Given the description of an element on the screen output the (x, y) to click on. 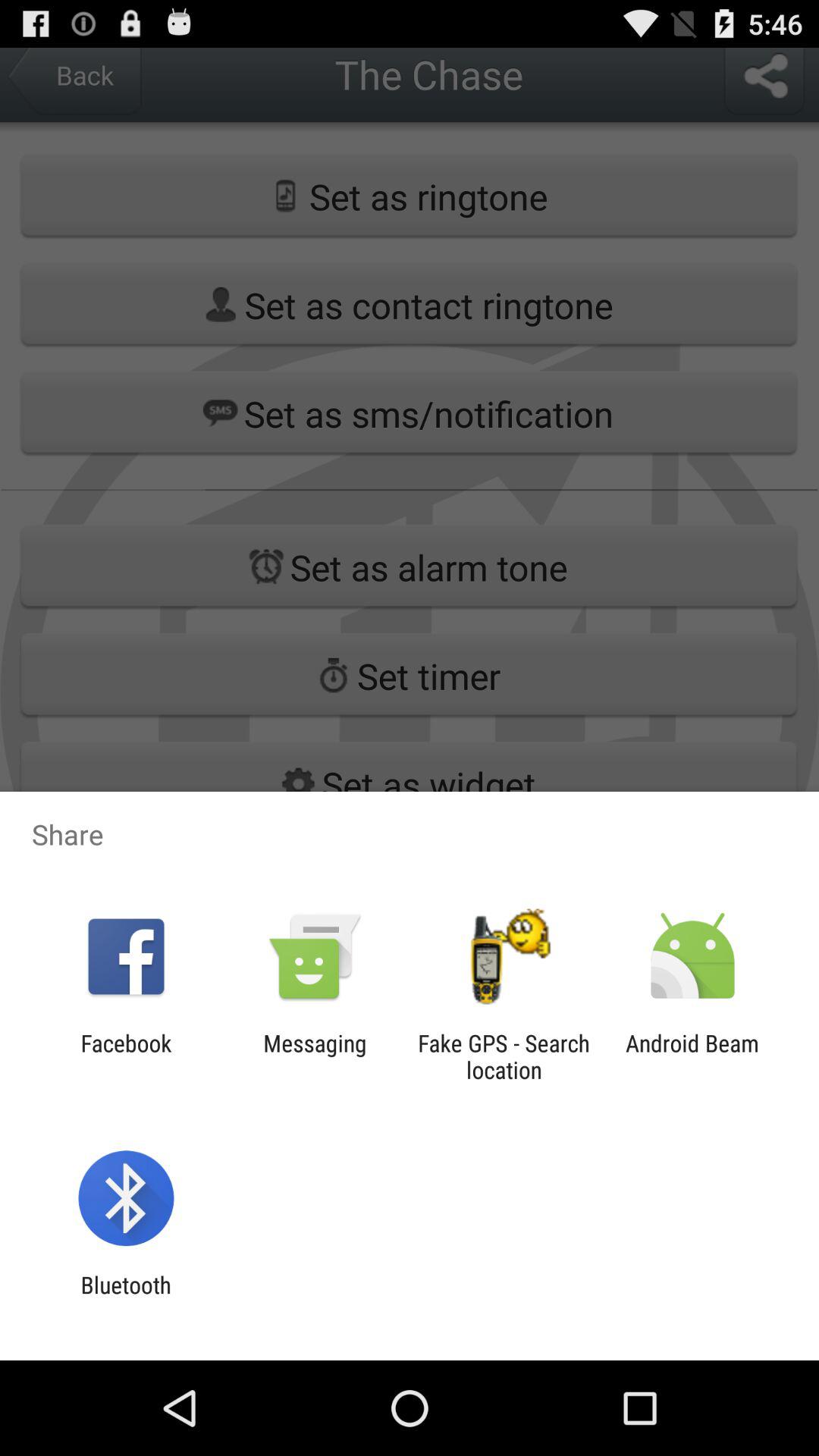
turn off the item to the left of android beam icon (503, 1056)
